Given the description of an element on the screen output the (x, y) to click on. 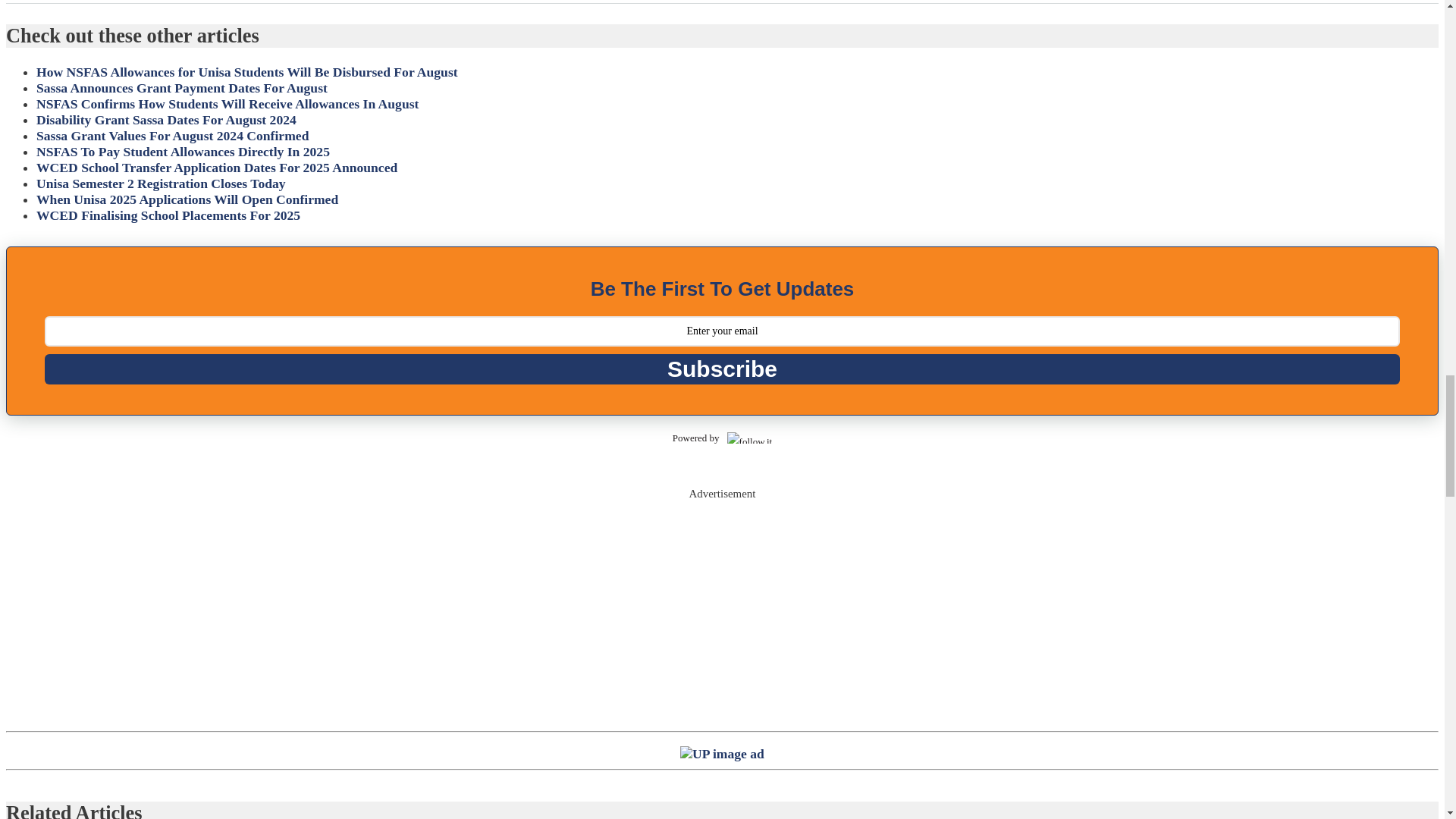
Sassa Announces Grant Payment Dates For August (181, 87)
